Given the description of an element on the screen output the (x, y) to click on. 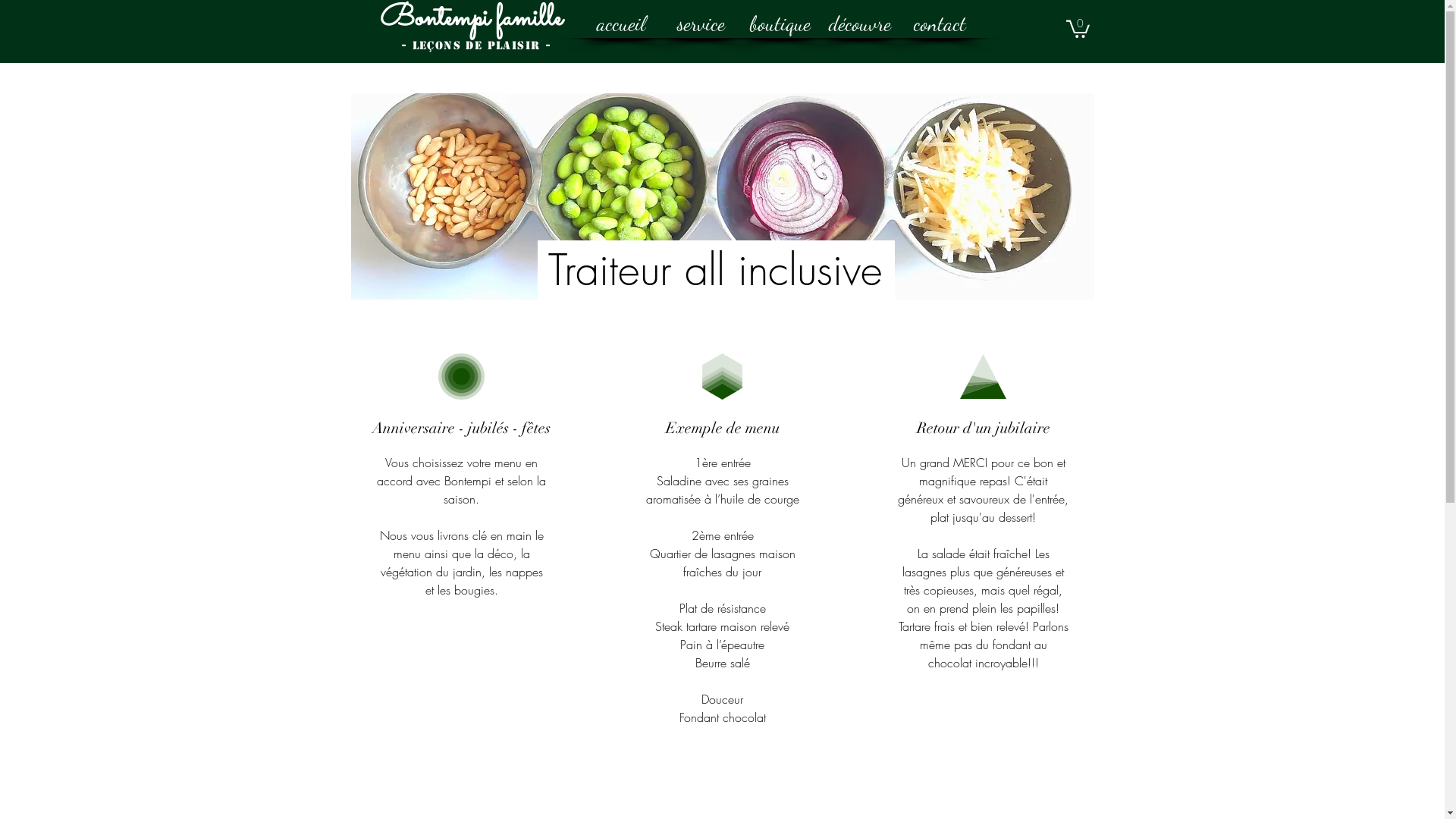
service Element type: text (700, 23)
accueil Element type: text (620, 23)
boutique Element type: text (779, 23)
0 Element type: text (1077, 27)
contact Element type: text (939, 23)
